Given the description of an element on the screen output the (x, y) to click on. 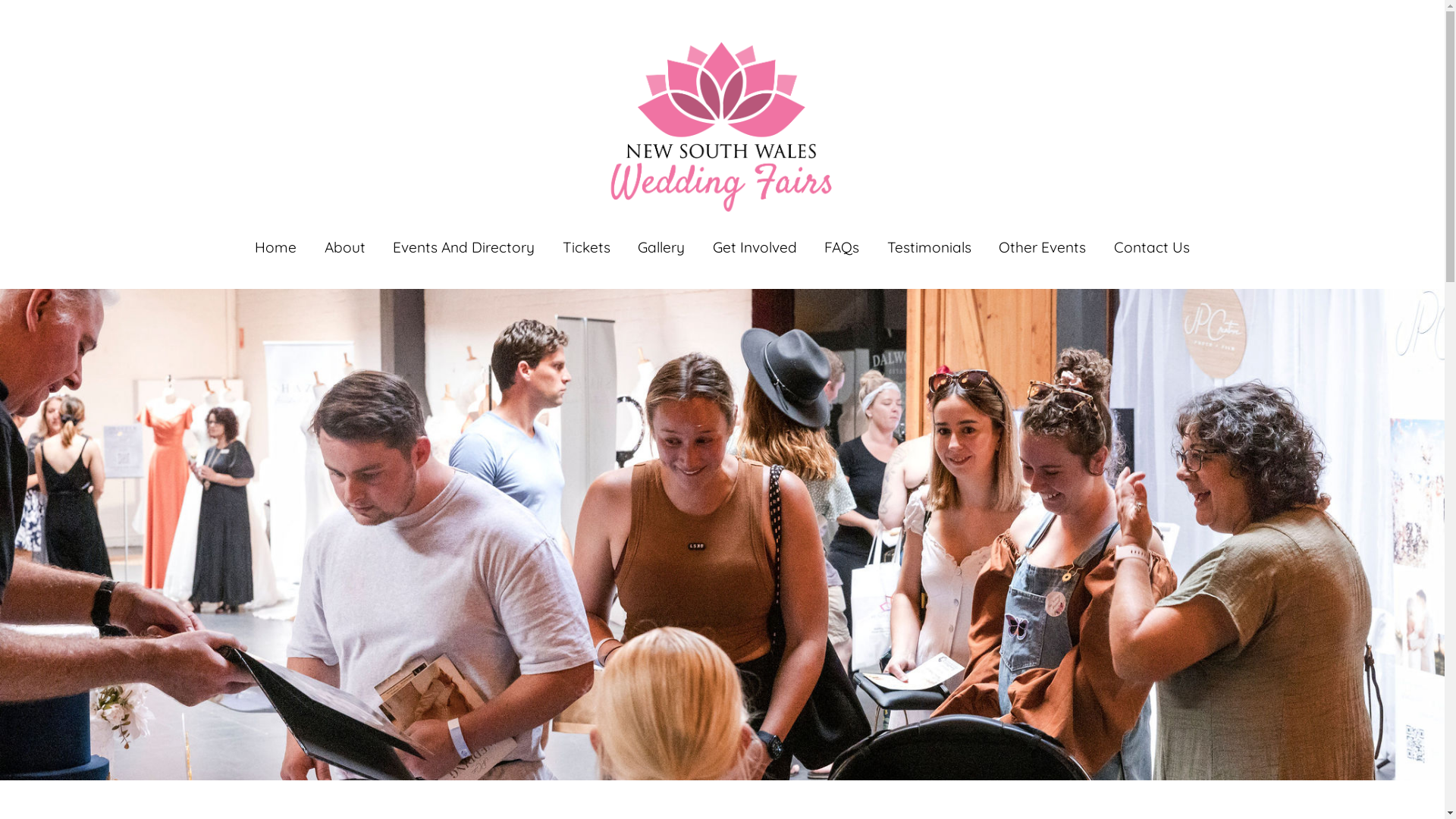
Home Element type: text (275, 247)
Testimonials Element type: text (929, 247)
Get Involved Element type: text (754, 247)
About Element type: text (344, 247)
Gallery Element type: text (660, 247)
Tickets Element type: text (586, 247)
Contact Us Element type: text (1151, 247)
Events And Directory Element type: text (463, 247)
Other Events Element type: text (1041, 247)
FAQs Element type: text (841, 247)
